Given the description of an element on the screen output the (x, y) to click on. 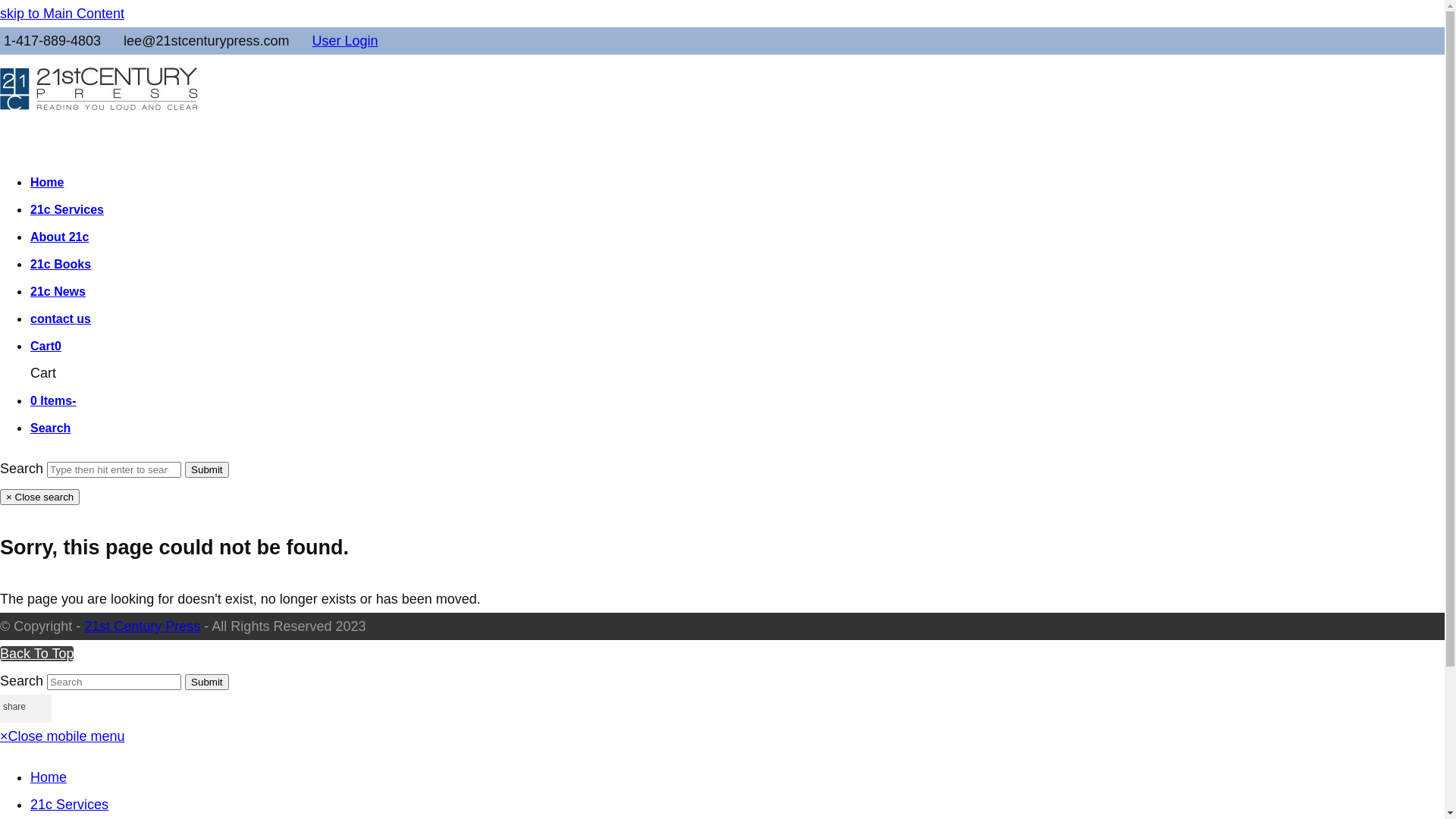
21c Books Element type: text (60, 263)
21c Services Element type: text (69, 804)
21st Century Press Element type: text (142, 625)
Search Element type: text (50, 427)
Home Element type: text (48, 776)
contact us Element type: text (60, 318)
21c Services Element type: text (66, 208)
skip to Main Content Element type: text (62, 13)
About 21c Element type: text (59, 236)
Submit Element type: text (206, 469)
21c News Element type: text (57, 290)
Submit Element type: text (206, 682)
Cart0 Element type: text (45, 345)
Home Element type: text (46, 181)
User Login Element type: text (344, 40)
Back To Top Element type: text (36, 653)
0 Items- Element type: text (52, 399)
